Given the description of an element on the screen output the (x, y) to click on. 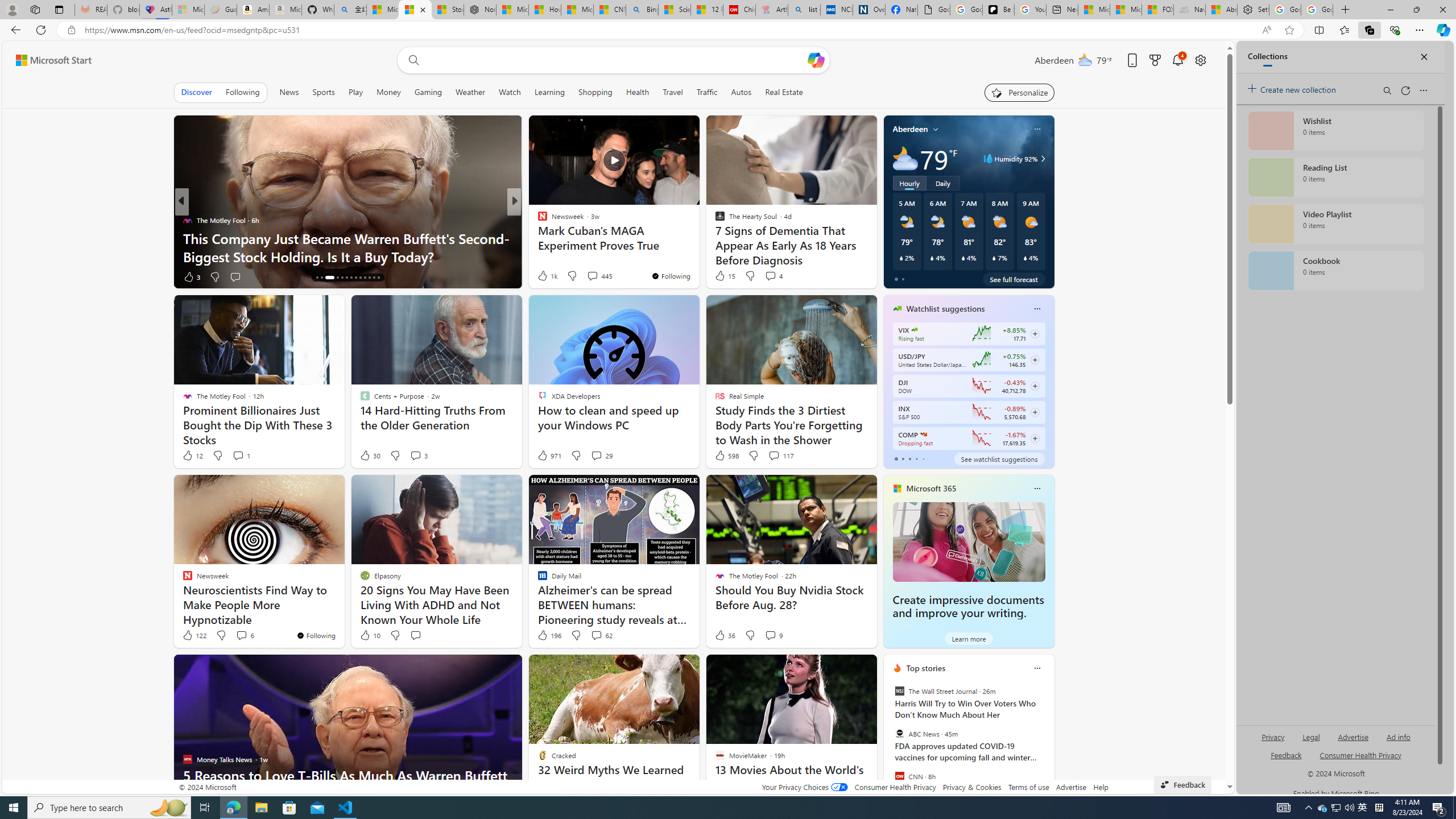
Create impressive documents and improve your writing. (967, 606)
See full forecast (1013, 278)
48 Fascinating Truths Behind the Most Common Myths Out There (697, 247)
View comments 3 Comment (414, 455)
NASDAQ (923, 434)
